Given the description of an element on the screen output the (x, y) to click on. 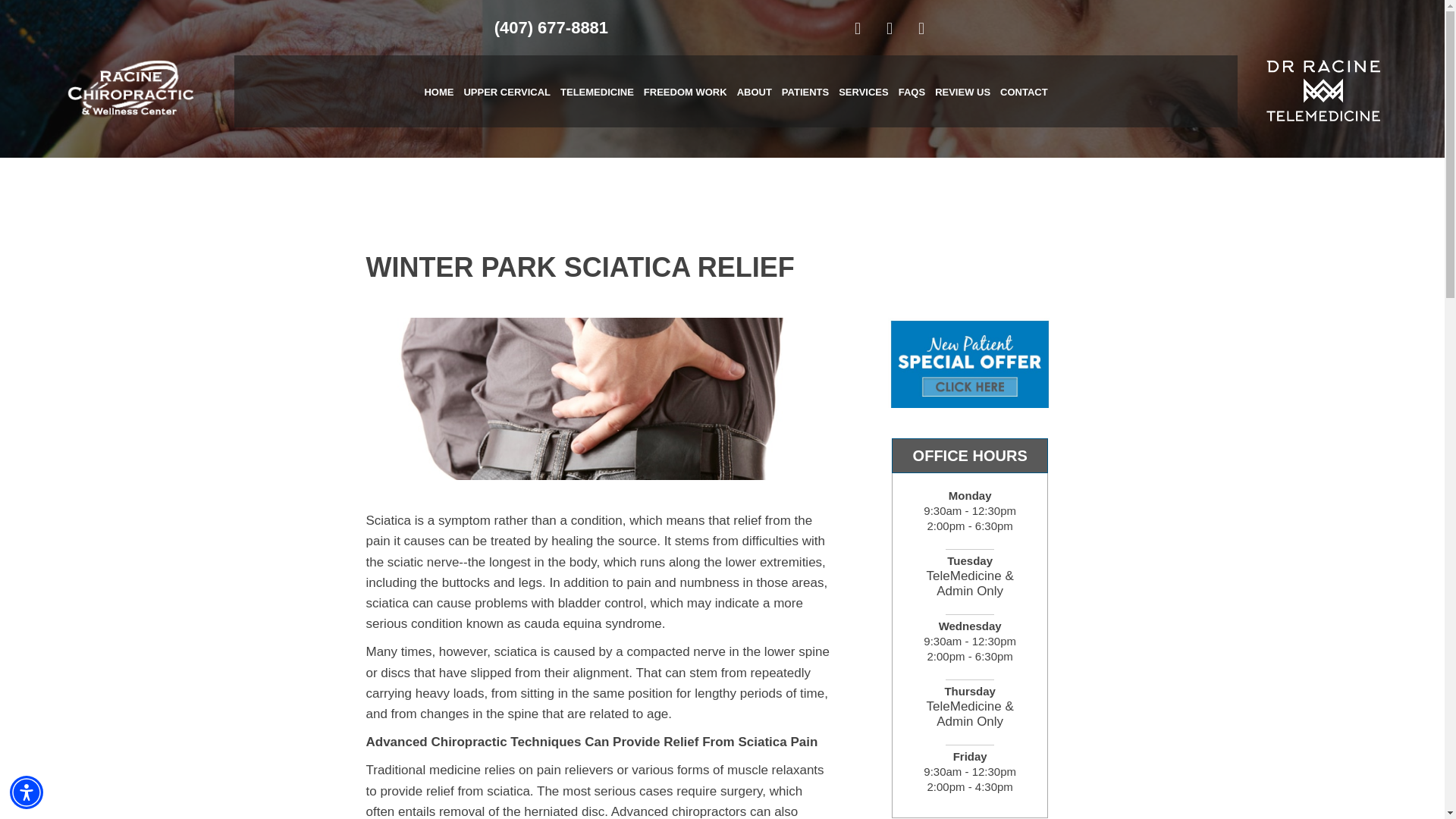
Uecker-logo-white (135, 90)
blog-sciatica1 (597, 397)
Accessibility Menu (26, 792)
uecker-boxes (970, 361)
Chiropractic Winter Park FL Dr Racine Telemedicine (1322, 91)
